Given the description of an element on the screen output the (x, y) to click on. 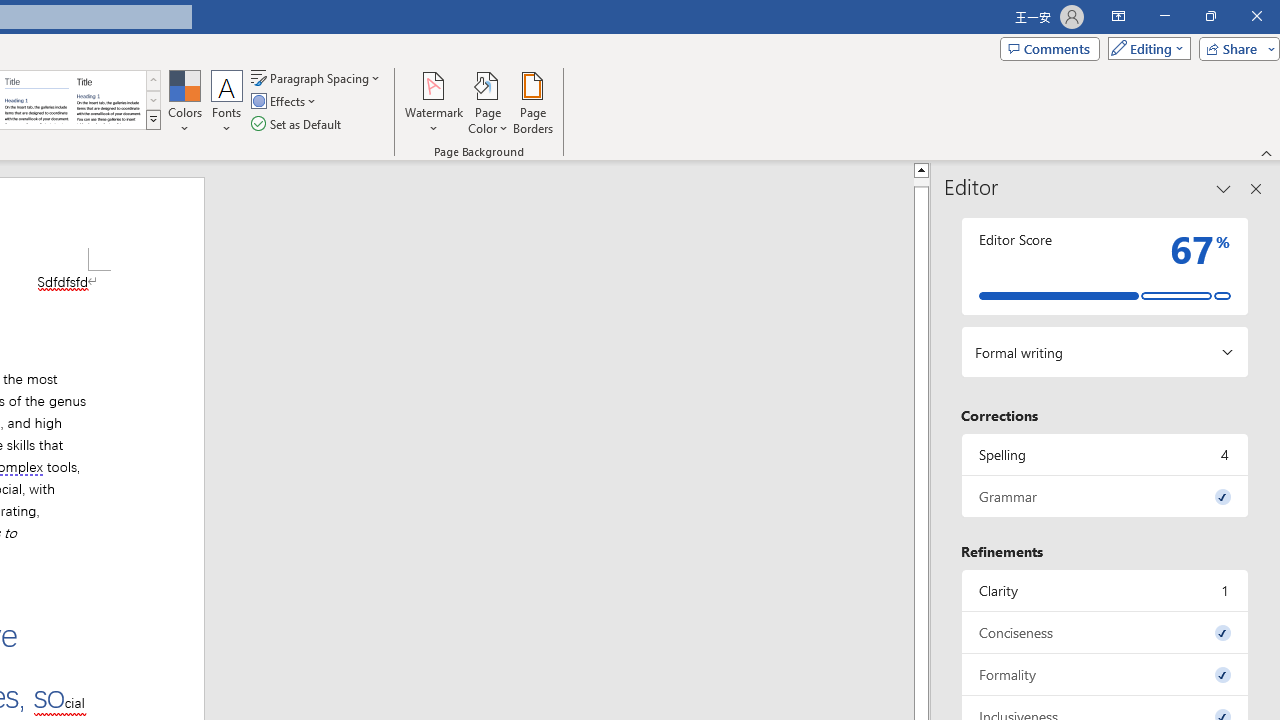
Style Set (153, 120)
Word 2010 (36, 100)
Page Borders... (532, 102)
Line up (921, 169)
Watermark (434, 102)
Grammar, 0 issues. Press space or enter to review items. (1105, 495)
Page Color (487, 102)
Fonts (227, 102)
Word 2013 (108, 100)
